Given the description of an element on the screen output the (x, y) to click on. 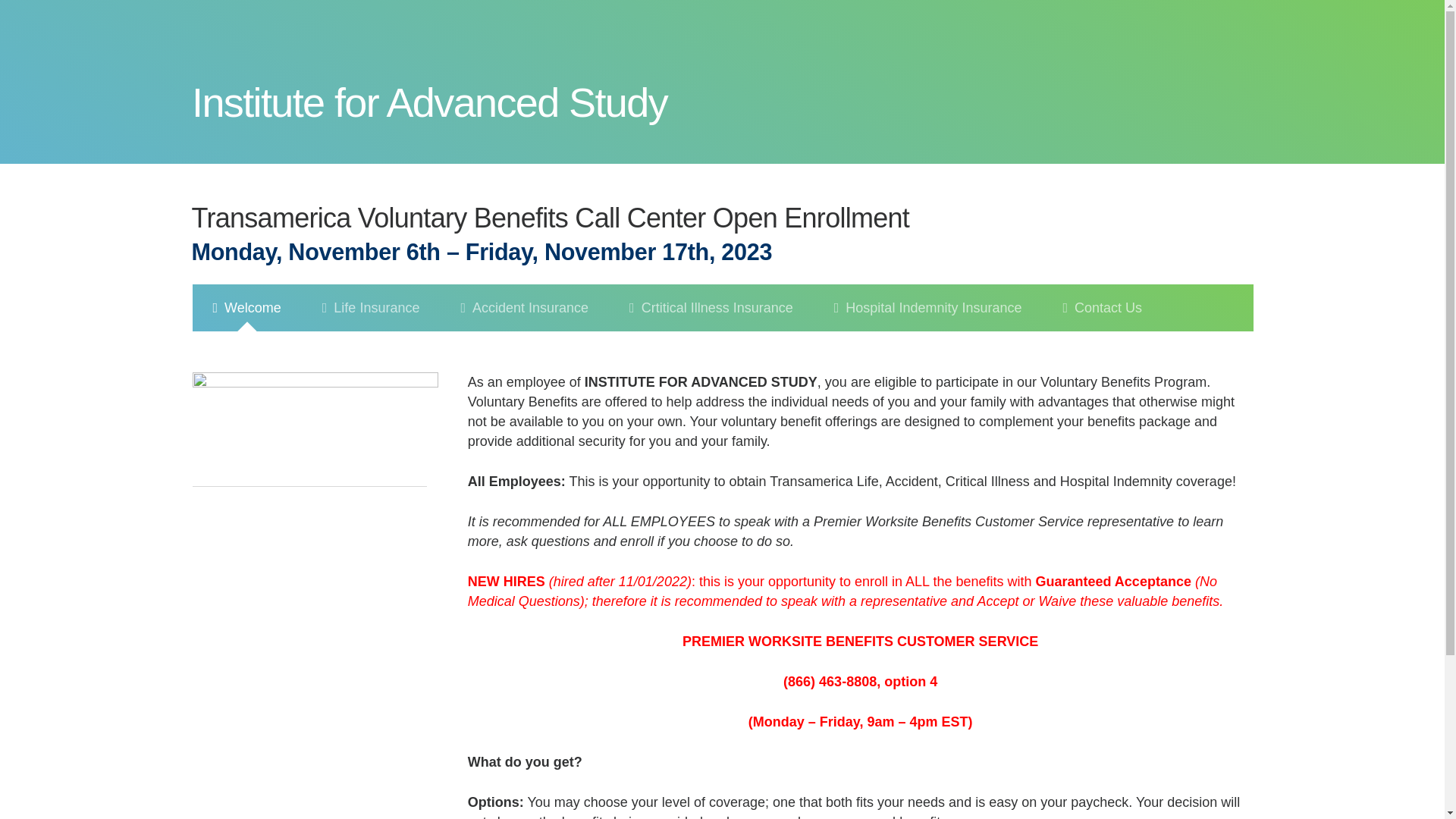
Hospital Indemnity Insurance (927, 328)
Crtitical Illness Insurance (710, 335)
Accident Insurance (523, 341)
Contact Us (1101, 324)
Welcome (246, 360)
Life Insurance (371, 349)
